Given the description of an element on the screen output the (x, y) to click on. 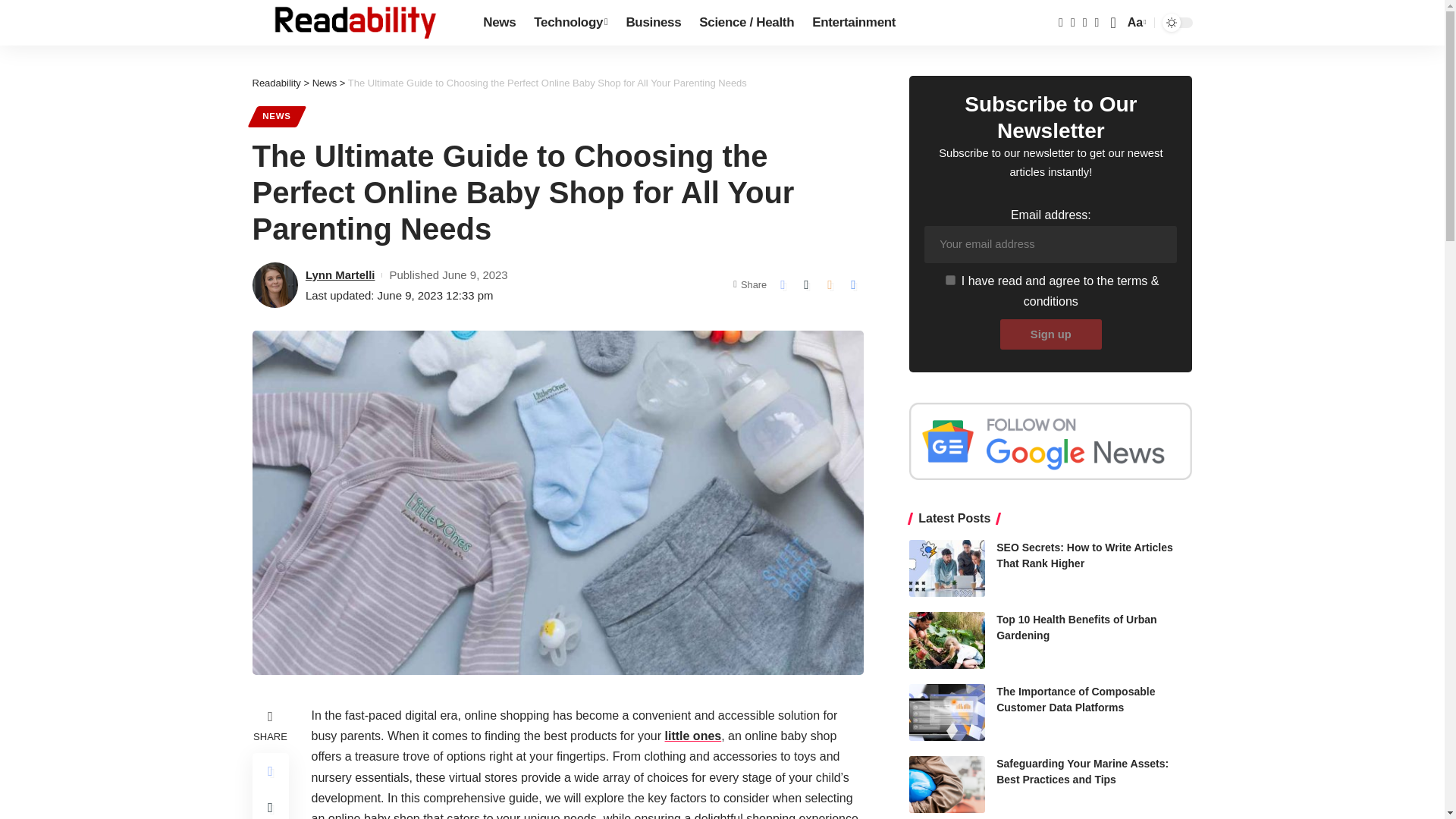
Business (652, 22)
News (499, 22)
Top 10 Health Benefits of Urban Gardening (946, 640)
Entertainment (853, 22)
Go to the News Category archives. (325, 82)
Go to Readability. (275, 82)
The Importance of Composable Customer Data Platforms (946, 712)
SEO Secrets: How to Write Articles That Rank Higher (946, 568)
Readability (354, 22)
Sign up (1051, 334)
Safeguarding Your Marine Assets: Best Practices and Tips (1135, 22)
1 (946, 784)
Technology (949, 280)
